Given the description of an element on the screen output the (x, y) to click on. 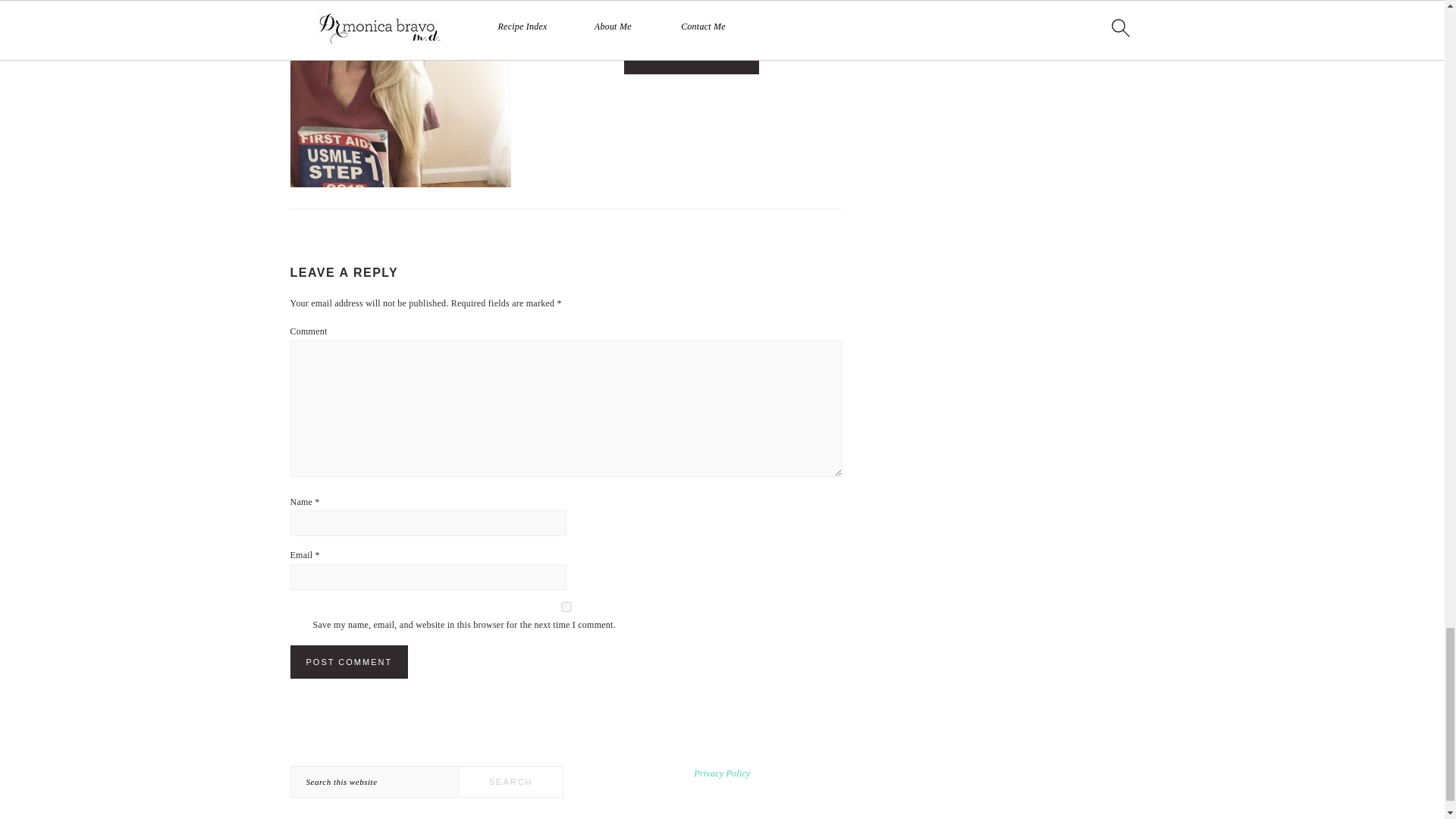
How to Study for Step 1 (400, 96)
Search (510, 781)
Search (510, 781)
Post Comment (348, 661)
yes (565, 606)
